Given the description of an element on the screen output the (x, y) to click on. 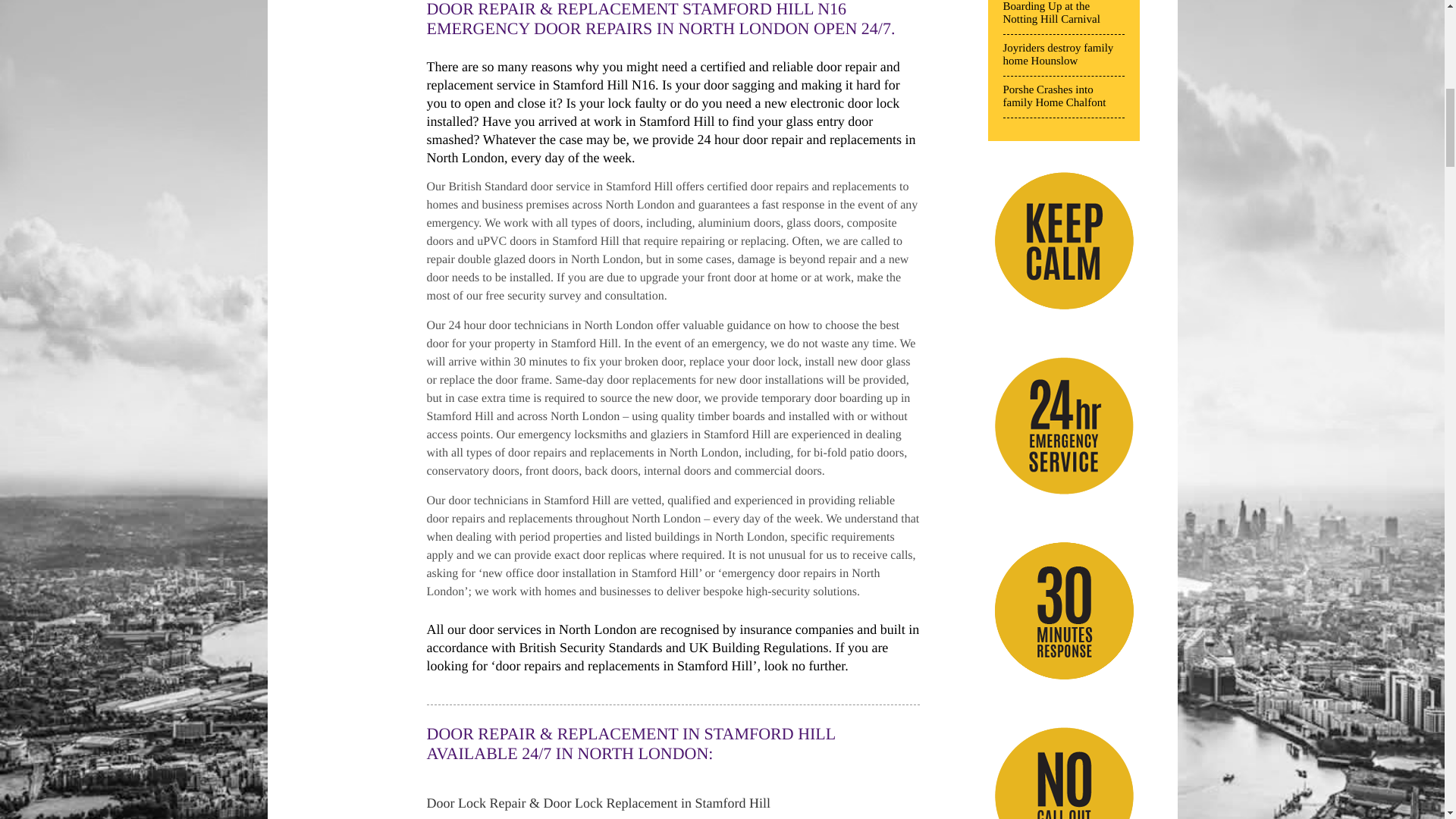
Keep Calm and Call Locked Out Locksmiths London (1062, 240)
Joyriders destroy family home Hounslow (1063, 59)
Porshe Crashes into family Home Chalfont (1063, 100)
Boarding Up at the Notting Hill Carnival (1063, 17)
